Given the description of an element on the screen output the (x, y) to click on. 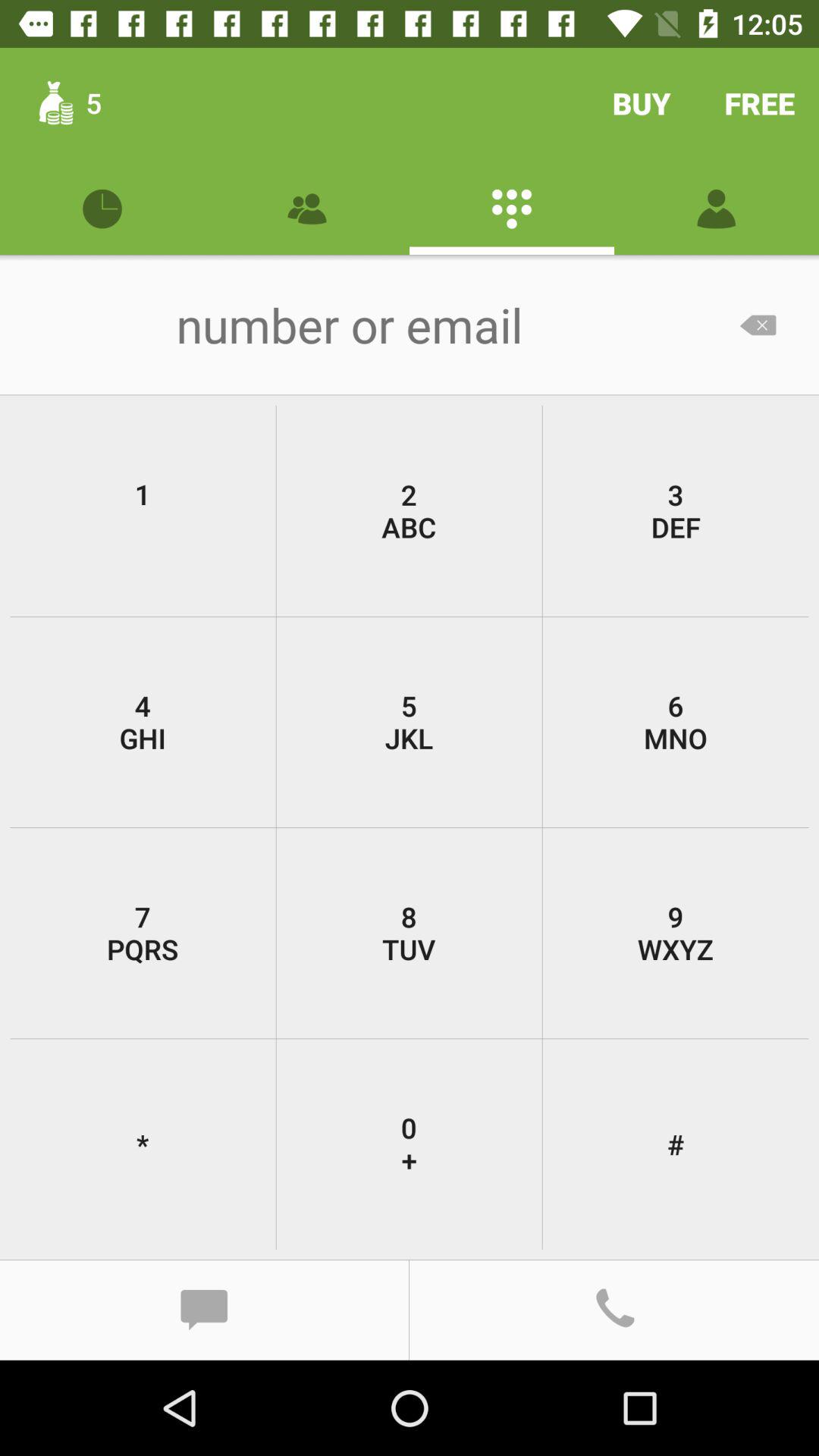
swipe until 8
tuv item (409, 933)
